Given the description of an element on the screen output the (x, y) to click on. 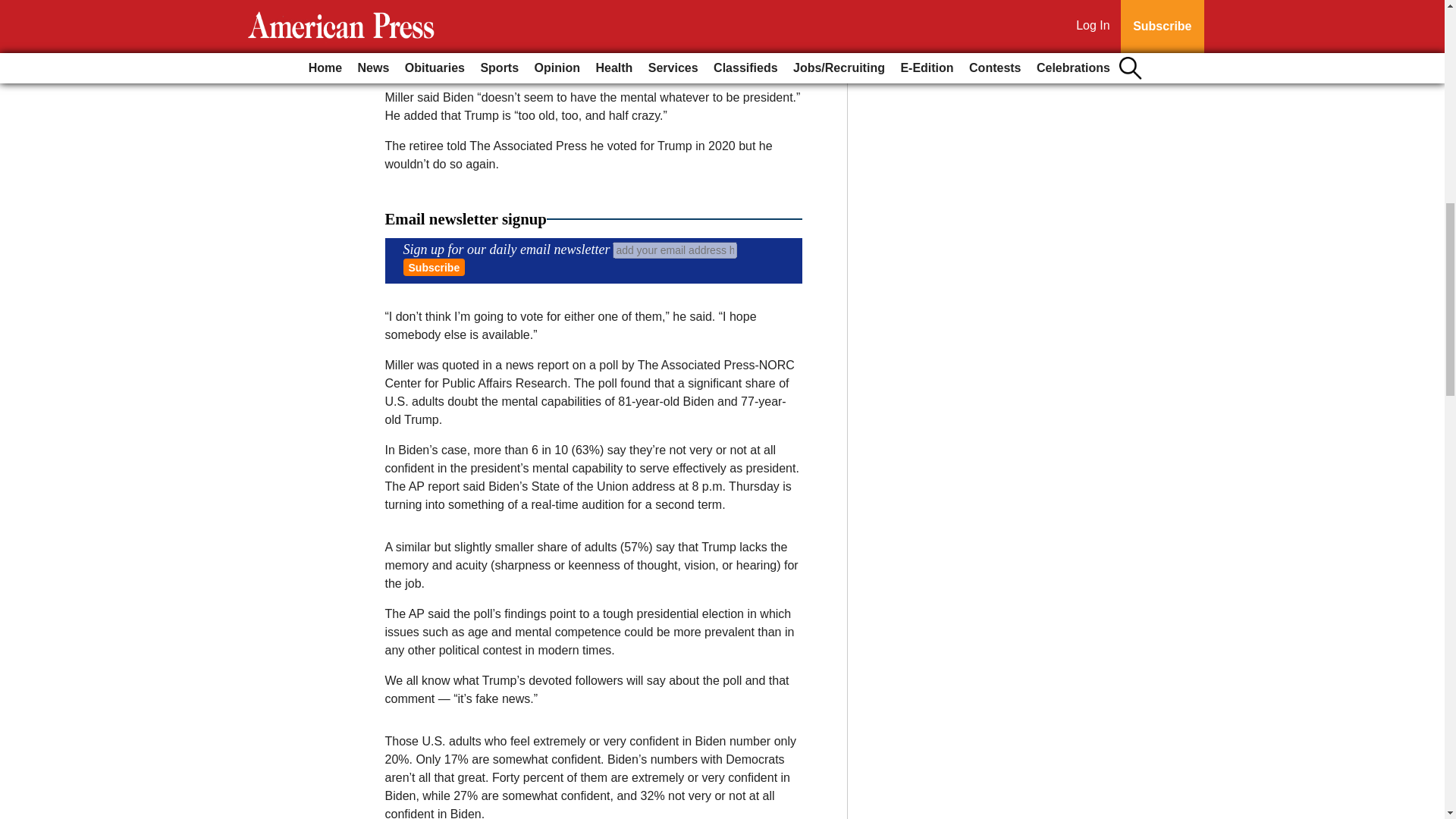
Subscribe (434, 267)
Subscribe (434, 267)
